Given the description of an element on the screen output the (x, y) to click on. 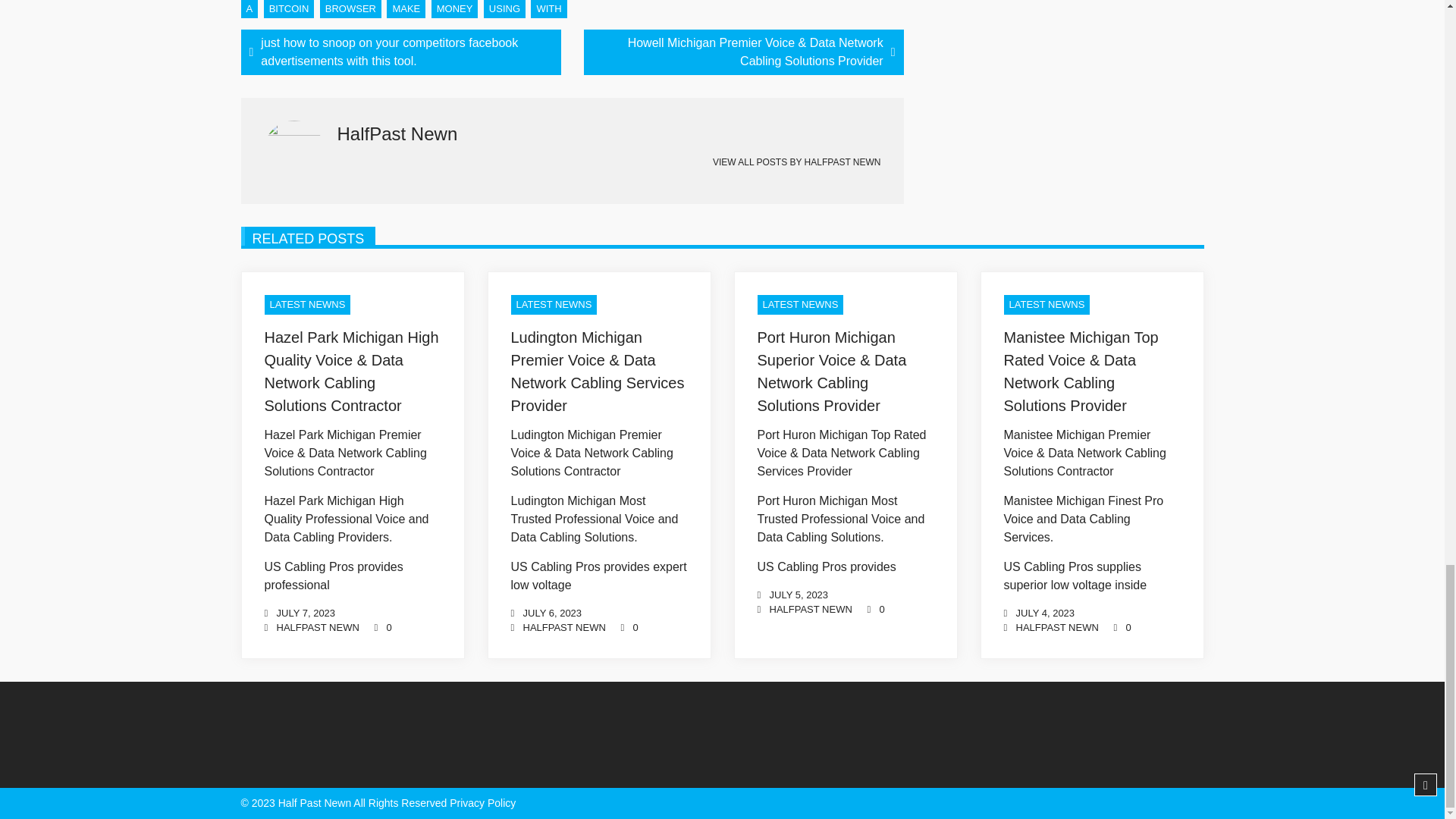
JULY 6, 2023 (552, 612)
HalfPast Newn (809, 609)
JULY 4, 2023 (1045, 612)
LATEST NEWNS (553, 304)
MAKE (406, 9)
LATEST NEWNS (1047, 304)
HalfPast Newn (1057, 627)
MONEY (454, 9)
HALFPAST NEWN (842, 162)
WITH (548, 9)
